Given the description of an element on the screen output the (x, y) to click on. 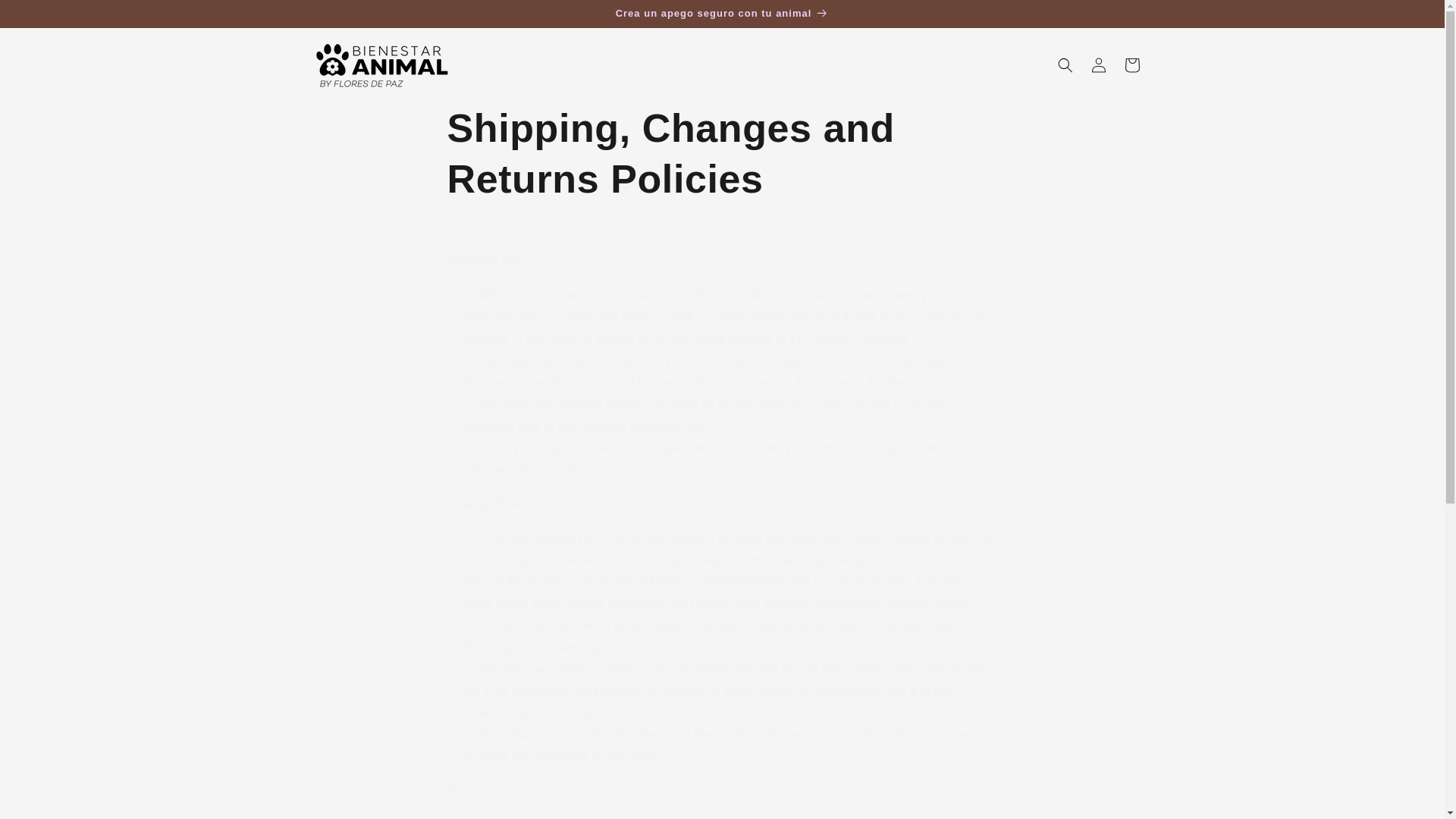
Skip to content (45, 17)
Cart (1131, 64)
Log in (1098, 64)
Shipping, Changes and Returns Policies (721, 154)
